Given the description of an element on the screen output the (x, y) to click on. 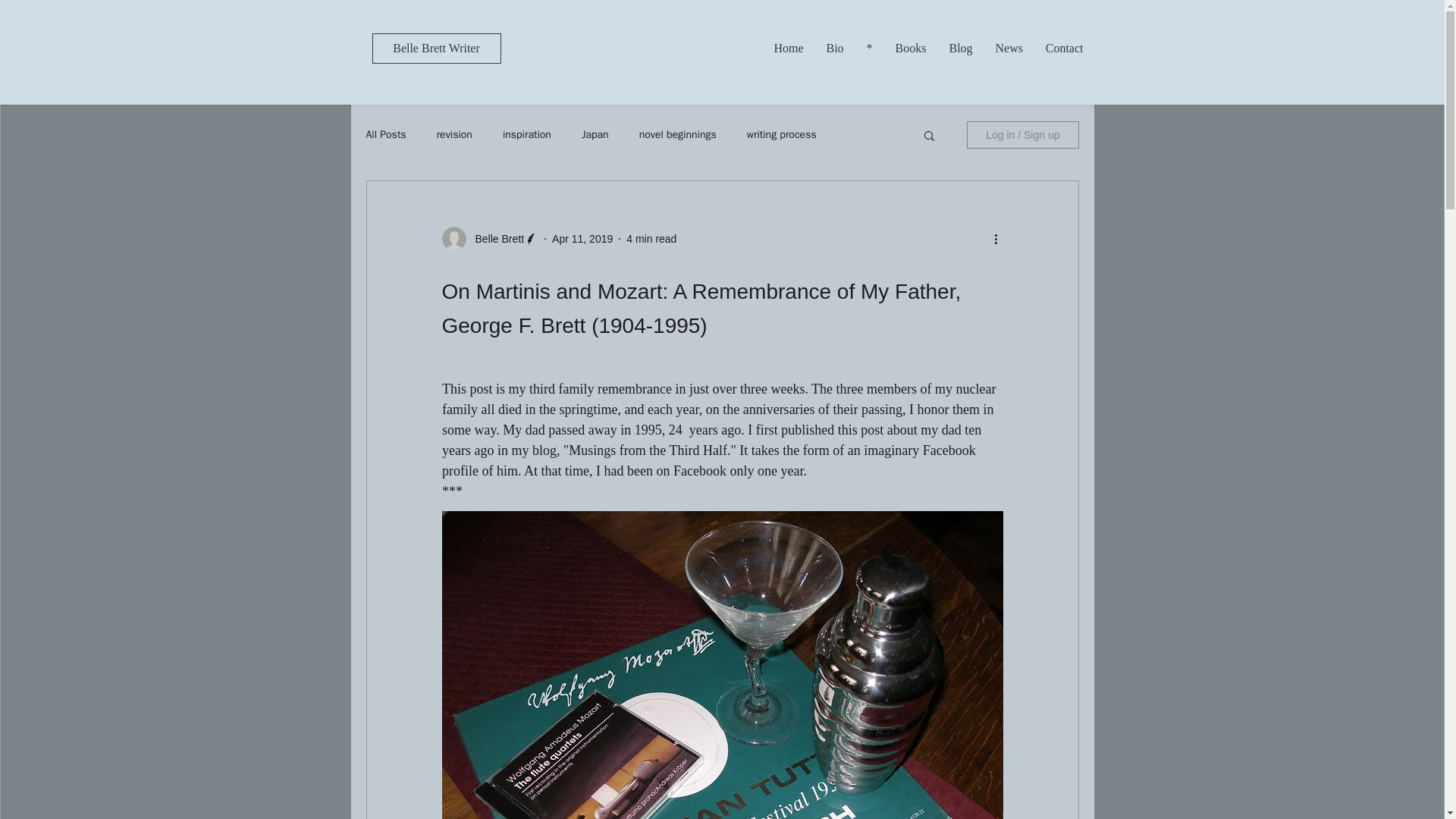
All Posts (385, 134)
News (1008, 47)
Belle Brett (494, 238)
Blog (960, 47)
Books (910, 47)
revision (453, 134)
writing process (781, 134)
Belle Brett Writer (435, 48)
4 min read (651, 237)
Contact (1063, 47)
